Given the description of an element on the screen output the (x, y) to click on. 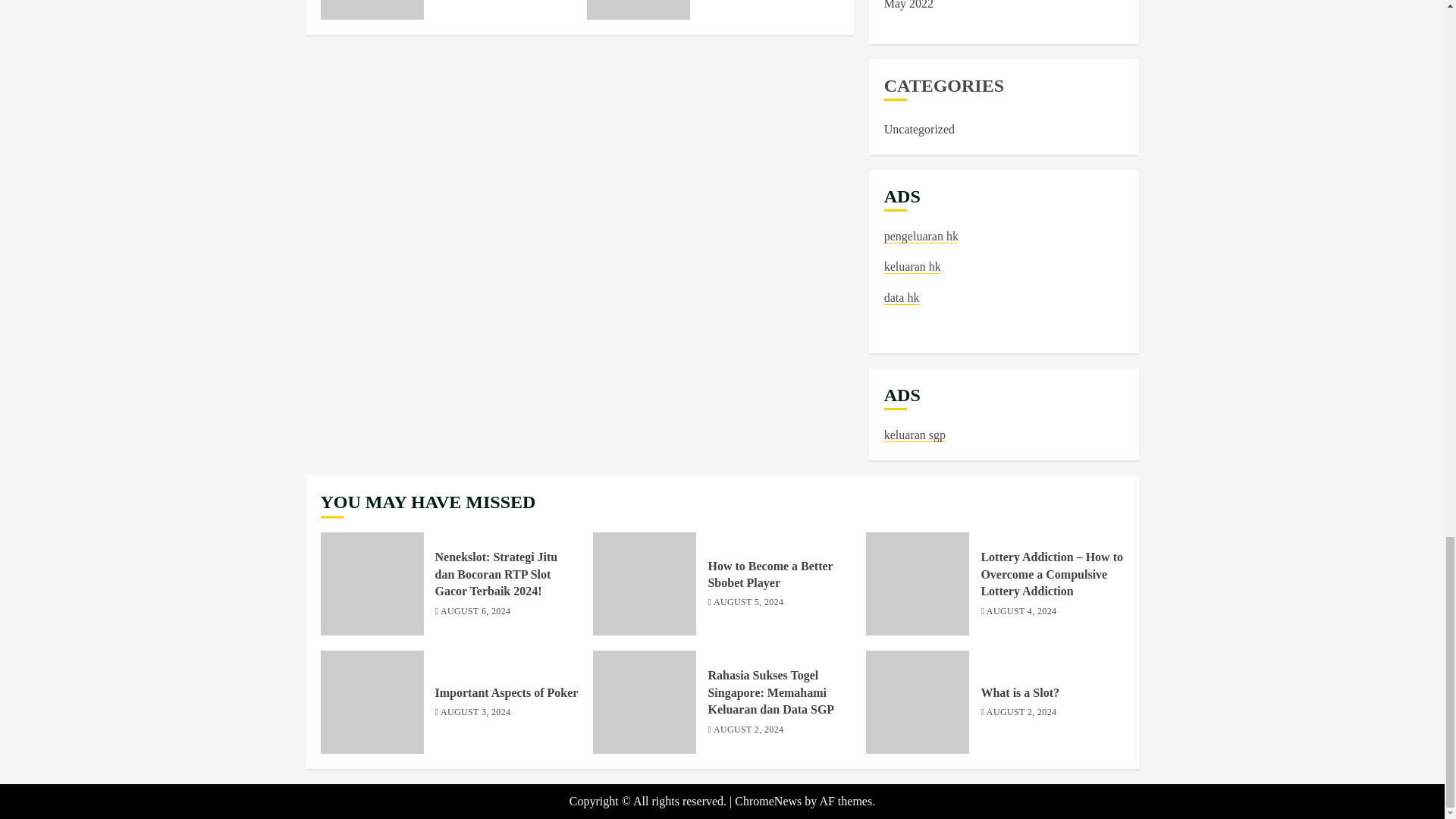
How to Become a Better Sbobet Player (638, 9)
